Given the description of an element on the screen output the (x, y) to click on. 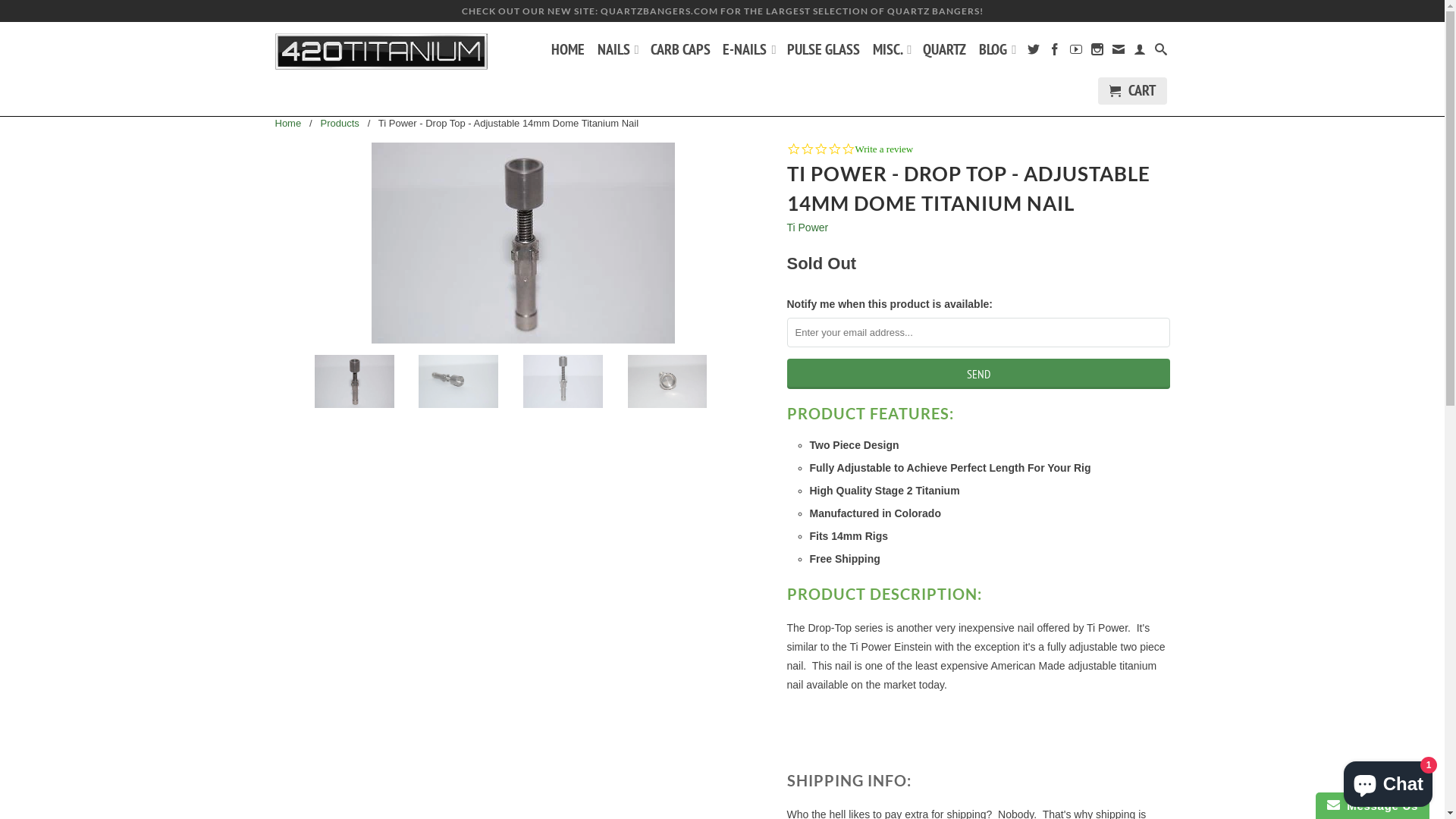
PULSE GLASS Element type: text (823, 52)
QUARTZ Element type: text (944, 52)
420Titanium on YouTube Element type: hover (1076, 52)
Ti Power Element type: text (807, 227)
My Account  Element type: hover (1139, 52)
Home Element type: text (287, 122)
Ti Power - Drop Top -  Adjustable 14mm Dome Titanium Nail Element type: hover (522, 242)
CARB CAPS Element type: text (680, 52)
Send Element type: text (978, 373)
420Titanium Element type: hover (380, 51)
420Titanium on Twitter Element type: hover (1033, 52)
420Titanium on Instagram Element type: hover (1097, 52)
Write a review Element type: text (884, 149)
420Titanium on Facebook Element type: hover (1054, 52)
Email 420Titanium Element type: hover (1118, 52)
HOME Element type: text (567, 52)
Search Element type: hover (1160, 52)
CART Element type: text (1132, 90)
Products Element type: text (339, 122)
Shopify online store chat Element type: hover (1388, 780)
